Given the description of an element on the screen output the (x, y) to click on. 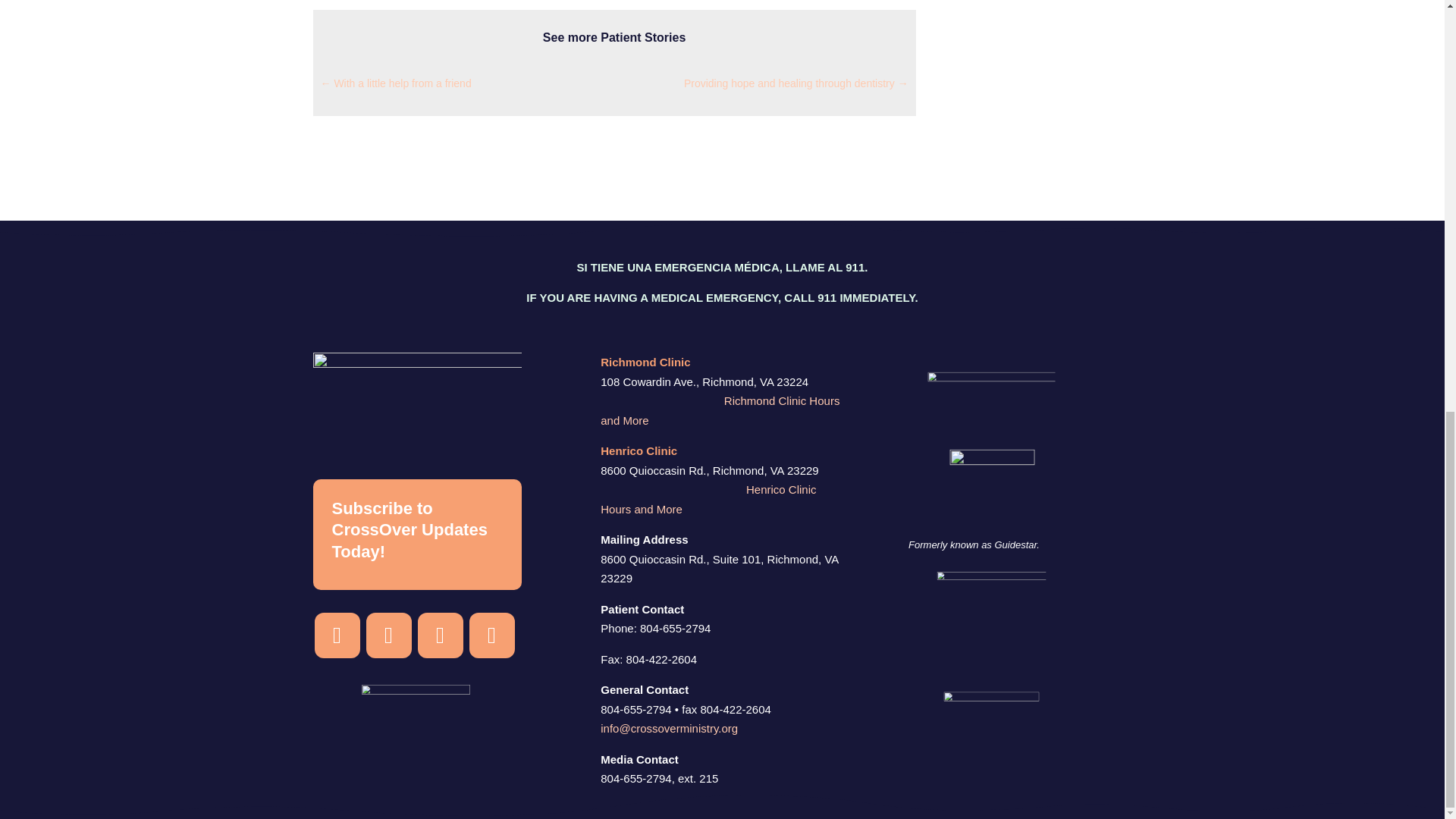
Follow on Facebook (387, 635)
Follow on Youtube (439, 635)
NAFC-Standards-Seal-Gold-2024 - sm - Transparent (1039, 674)
Follow on Instagram (336, 635)
bbb-logo-color (1020, 742)
candid-seal-gold-2023 (990, 490)
Follow on Twitter (490, 635)
